Given the description of an element on the screen output the (x, y) to click on. 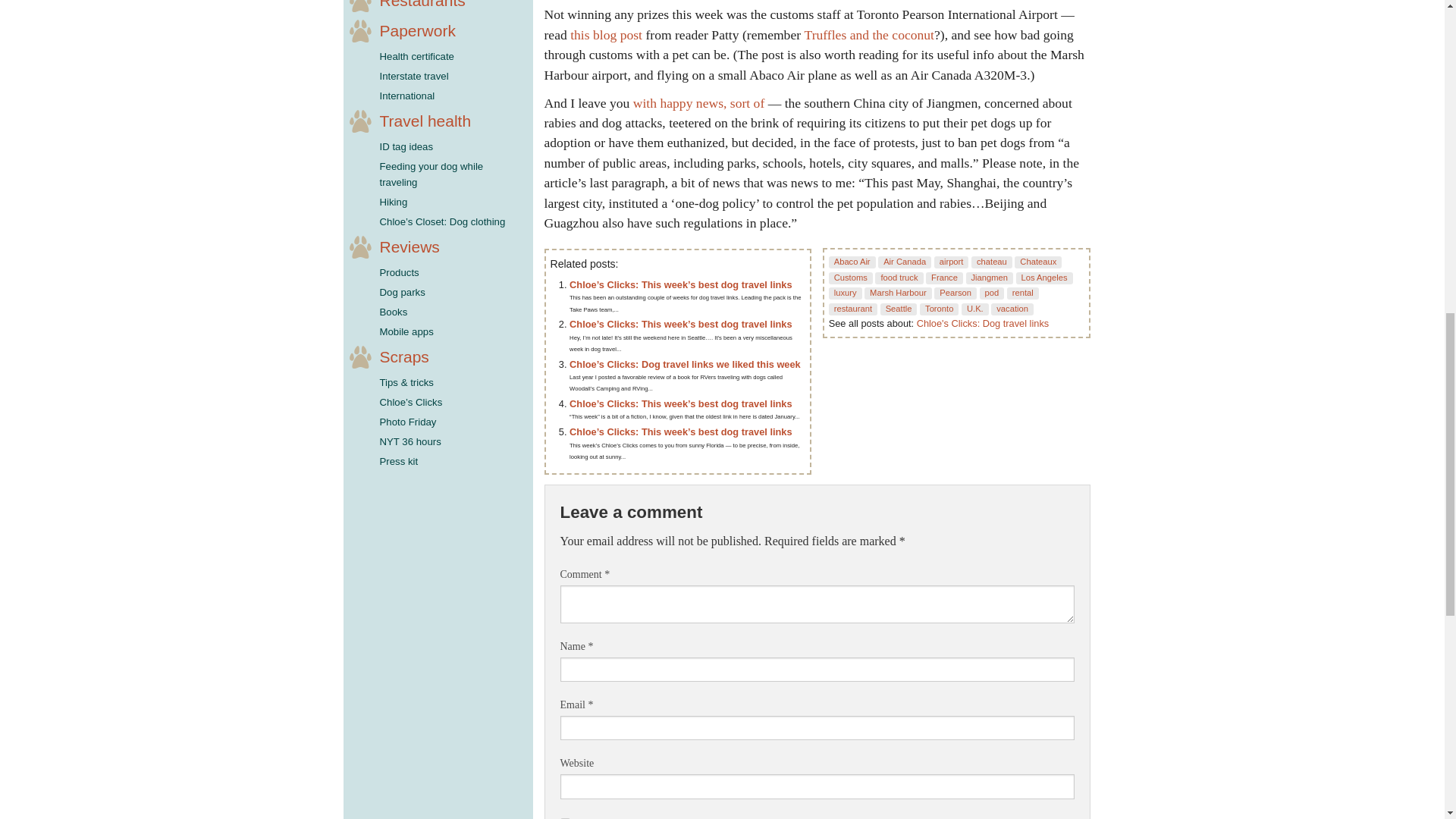
Truffles and the coconut (868, 34)
this blog post (606, 34)
with happy news, sort of (700, 102)
